Given the description of an element on the screen output the (x, y) to click on. 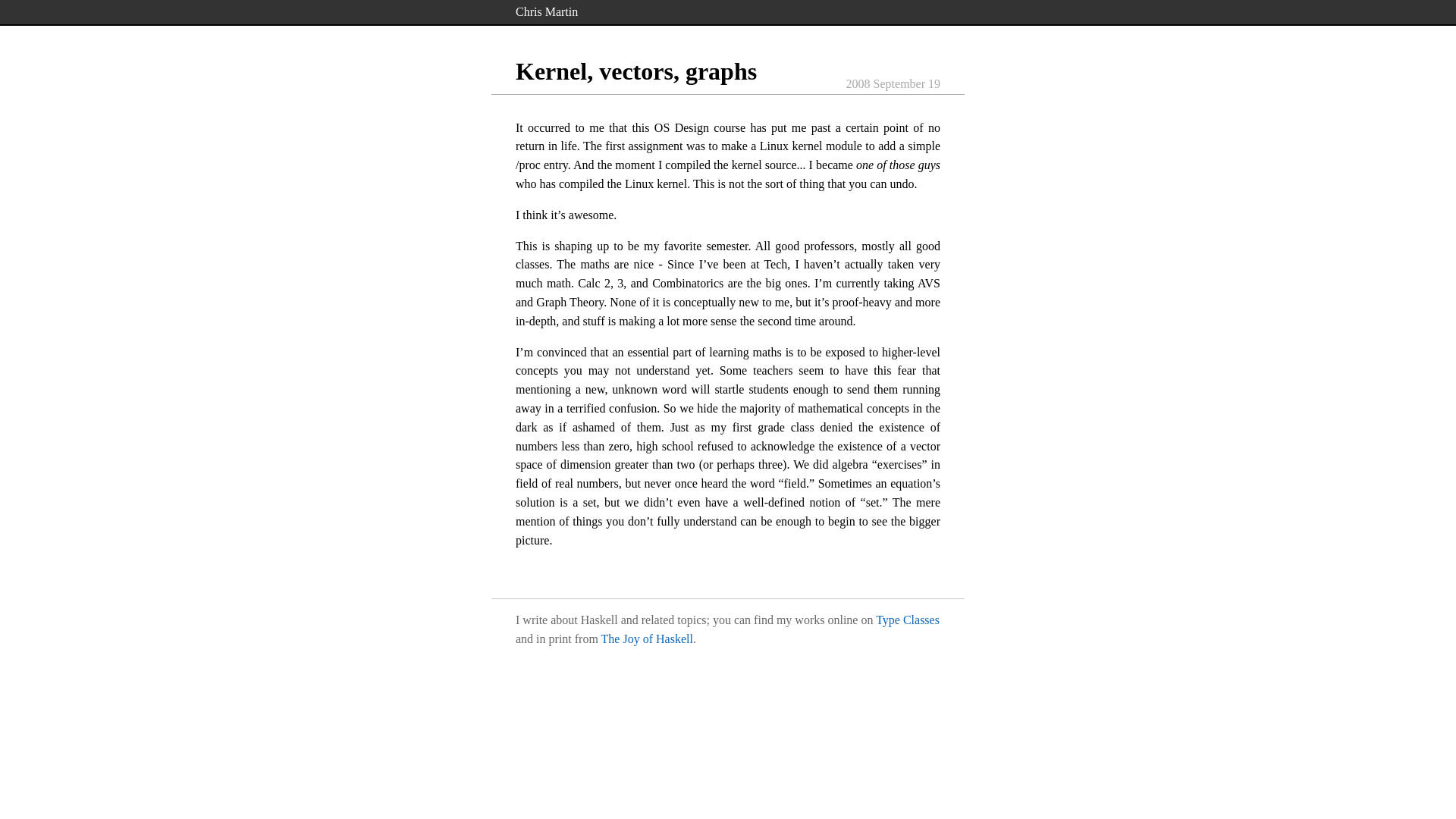
Type Classes (907, 619)
The Joy of Haskell (647, 638)
Chris Martin (546, 11)
